Given the description of an element on the screen output the (x, y) to click on. 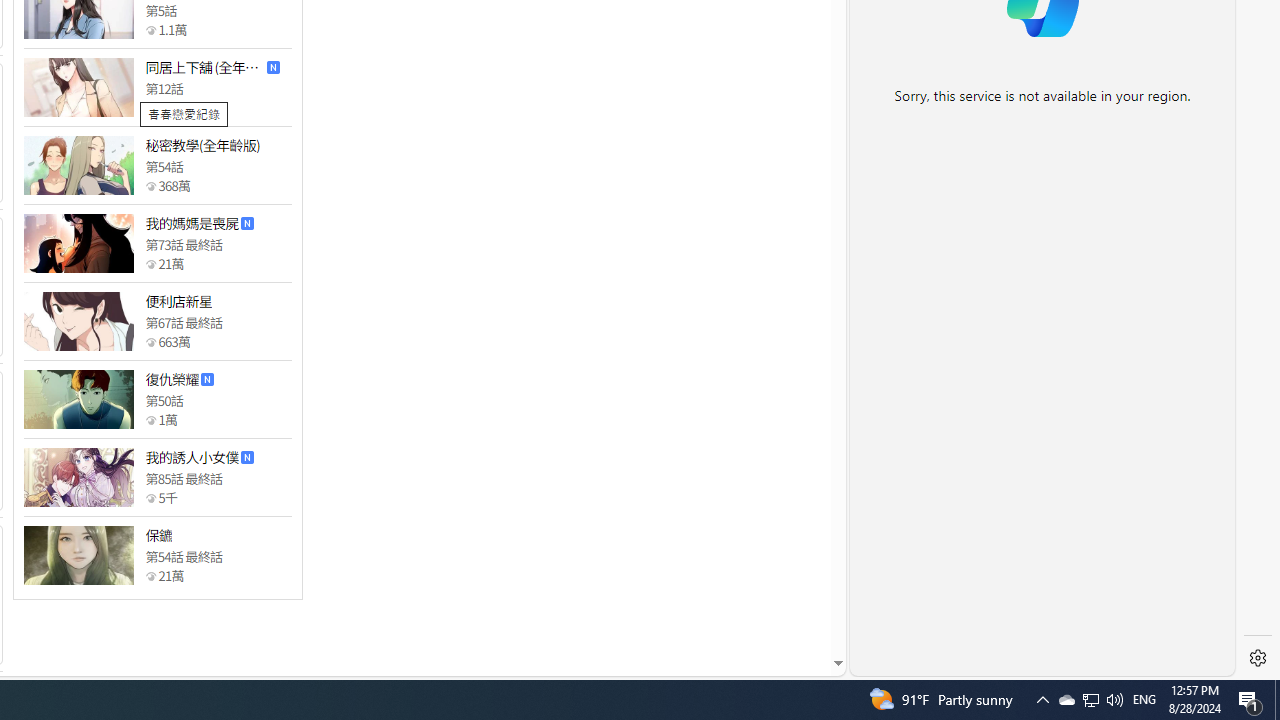
Class: thumb_img (78, 555)
Class: epicon_starpoint (150, 575)
Settings (1258, 658)
